Given the description of an element on the screen output the (x, y) to click on. 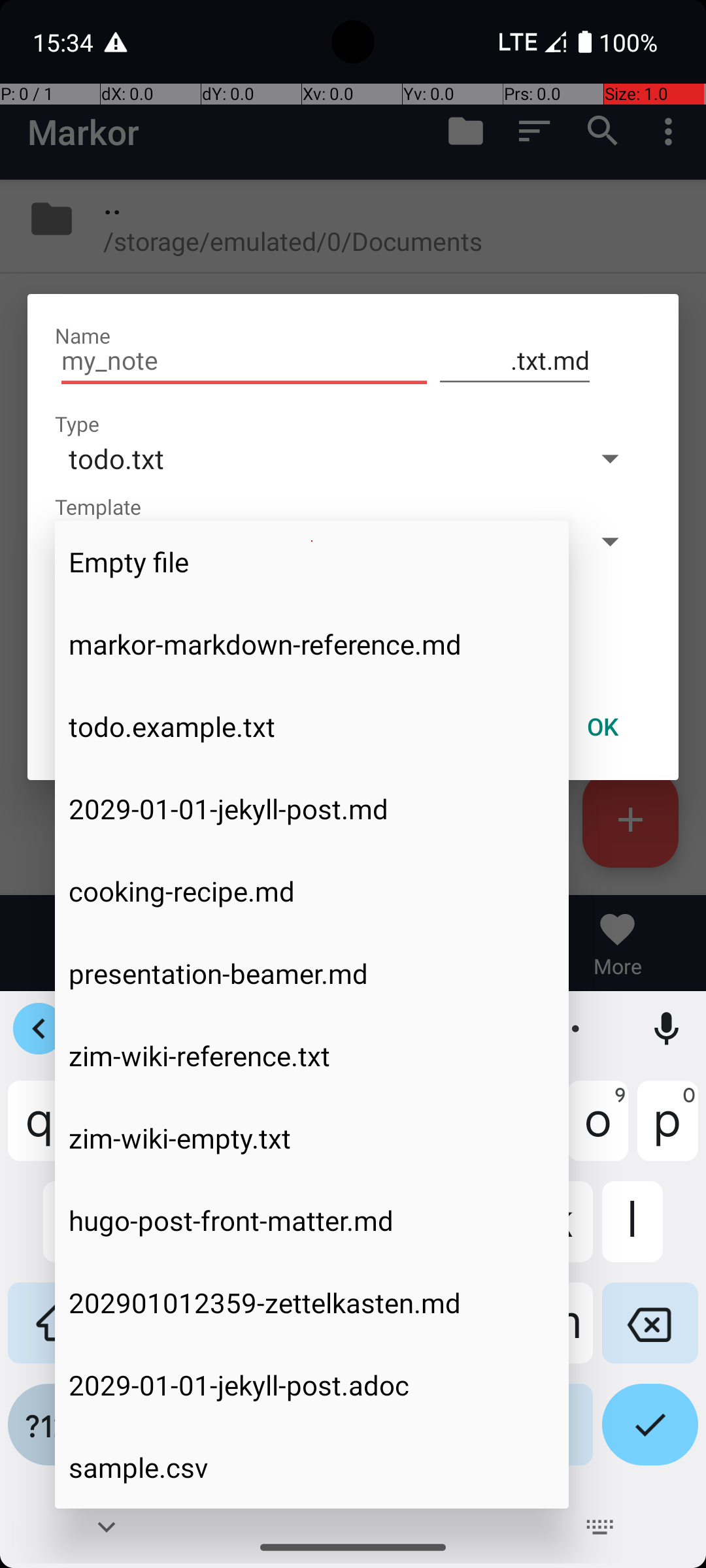
markor-markdown-reference.md Element type: android.widget.CheckedTextView (311, 644)
todo.example.txt Element type: android.widget.CheckedTextView (311, 726)
2029-01-01-jekyll-post.md Element type: android.widget.CheckedTextView (311, 808)
presentation-beamer.md Element type: android.widget.CheckedTextView (311, 973)
zim-wiki-reference.txt Element type: android.widget.CheckedTextView (311, 1055)
zim-wiki-empty.txt Element type: android.widget.CheckedTextView (311, 1137)
hugo-post-front-matter.md Element type: android.widget.CheckedTextView (311, 1220)
202901012359-zettelkasten.md Element type: android.widget.CheckedTextView (311, 1302)
sample.csv Element type: android.widget.CheckedTextView (311, 1467)
